Given the description of an element on the screen output the (x, y) to click on. 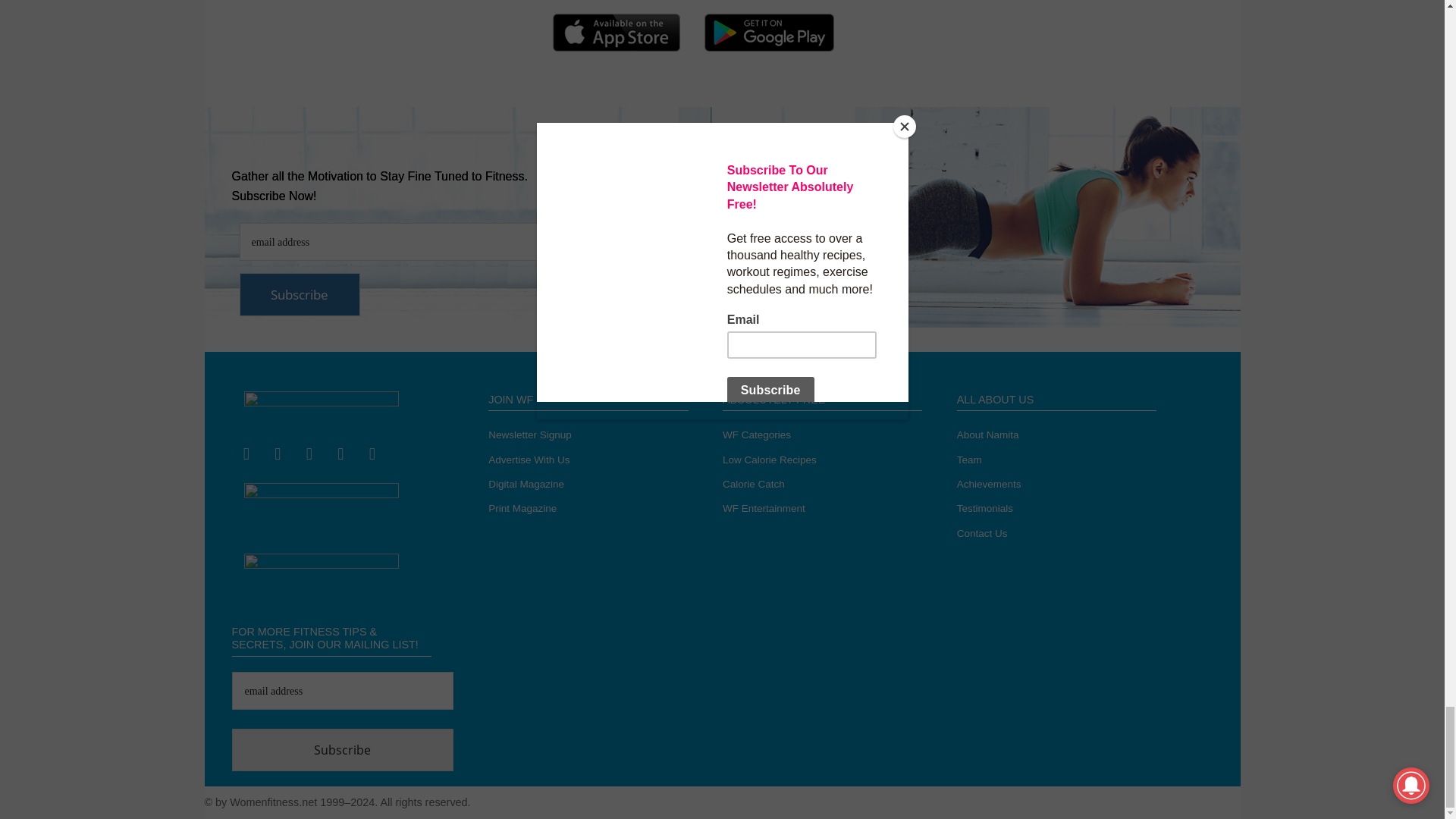
Subscribe (342, 749)
Subscribe (299, 294)
